Given the description of an element on the screen output the (x, y) to click on. 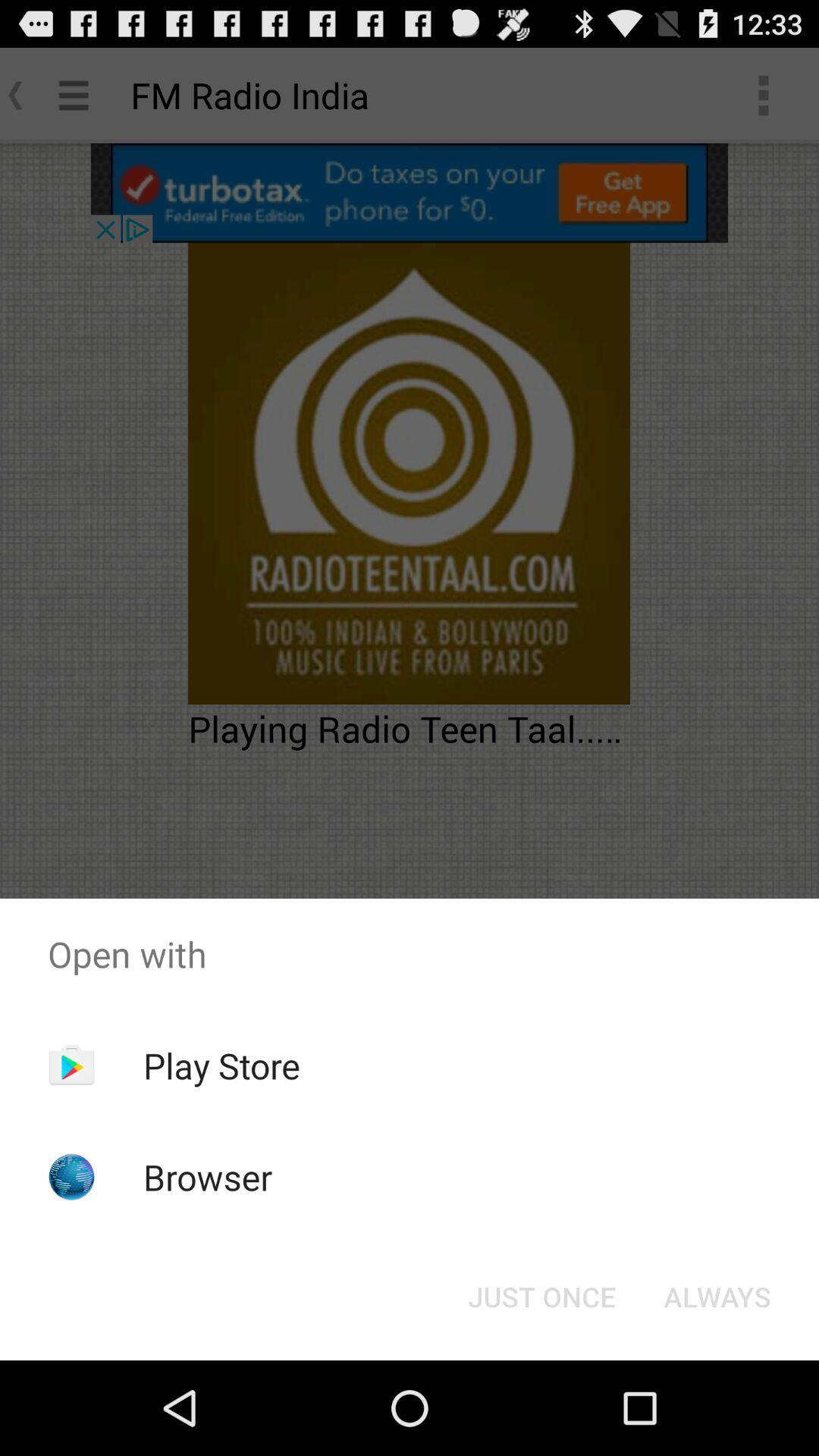
turn off icon to the left of the always item (541, 1296)
